Given the description of an element on the screen output the (x, y) to click on. 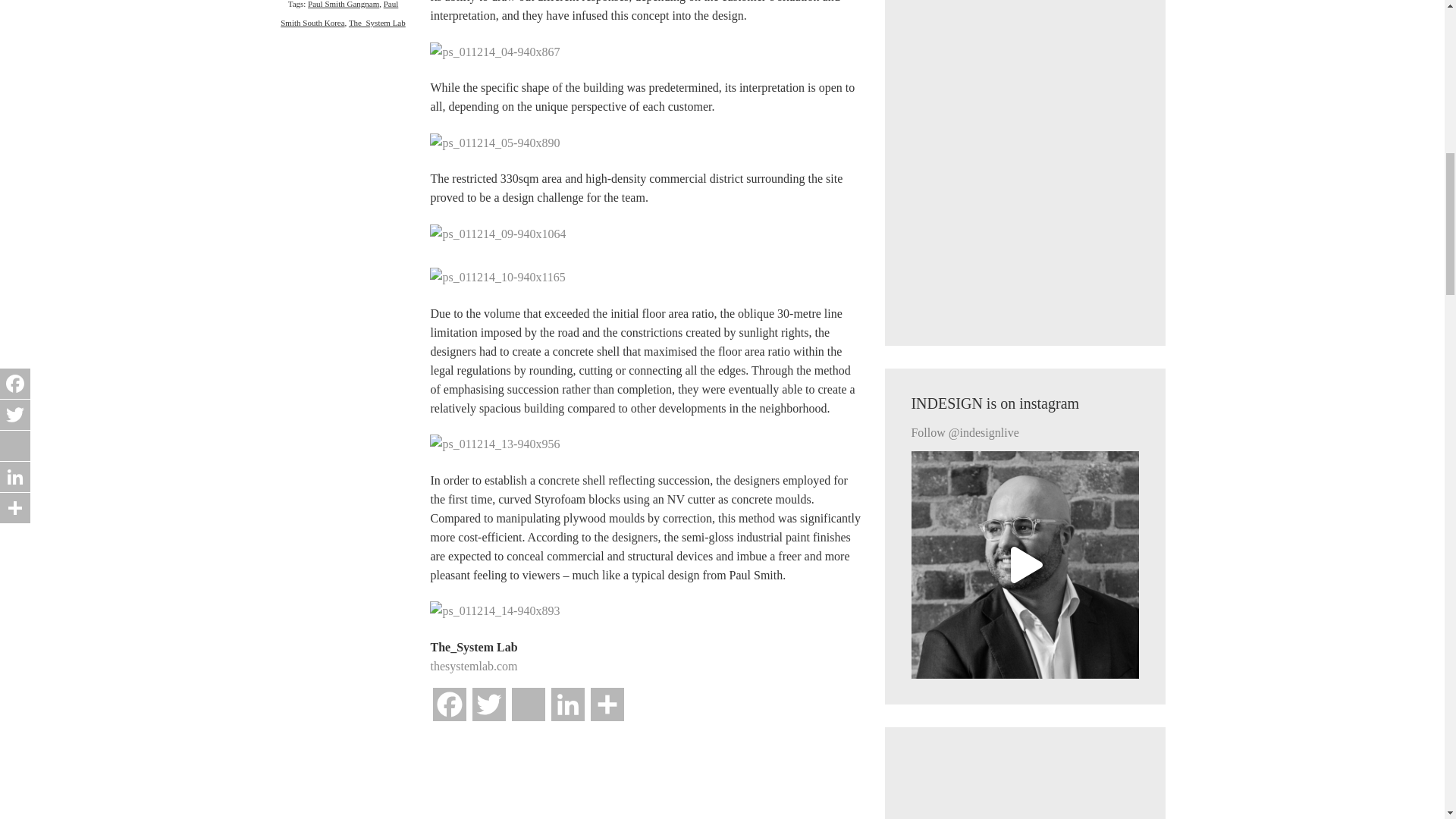
3rd party ad content (1024, 785)
